Given the description of an element on the screen output the (x, y) to click on. 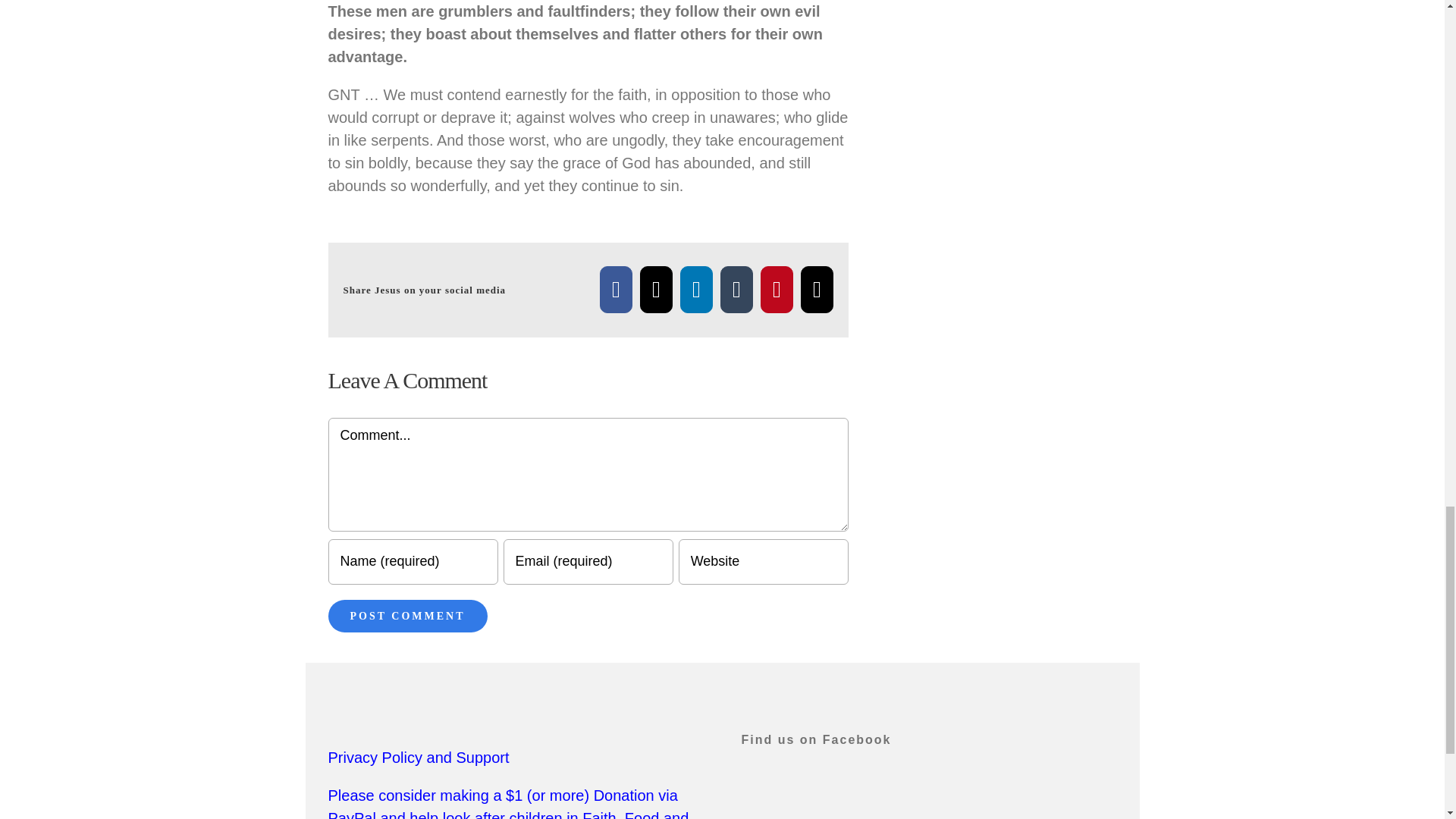
Post Comment (406, 615)
X (656, 289)
LinkedIn (696, 289)
Tumblr (736, 289)
Facebook (615, 289)
Pinterest (776, 289)
Facebook (615, 289)
Email (816, 289)
X (656, 289)
